Given the description of an element on the screen output the (x, y) to click on. 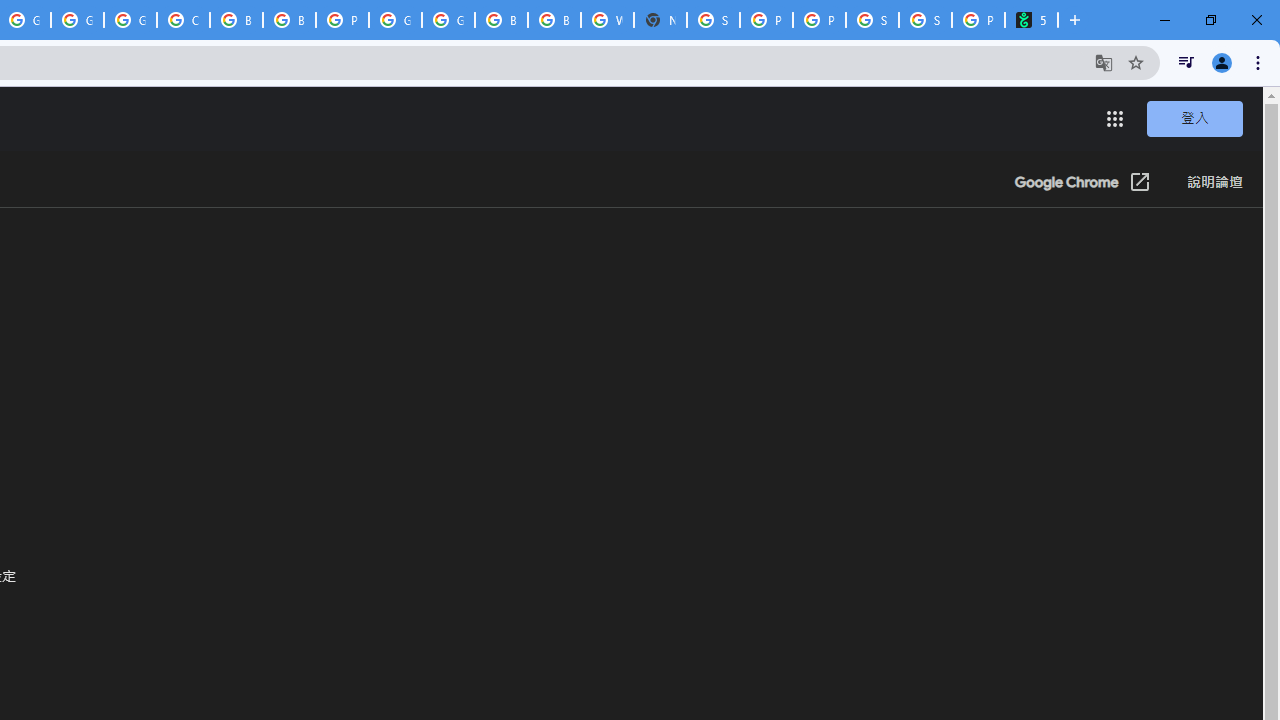
Google Cloud Platform (395, 20)
